Given the description of an element on the screen output the (x, y) to click on. 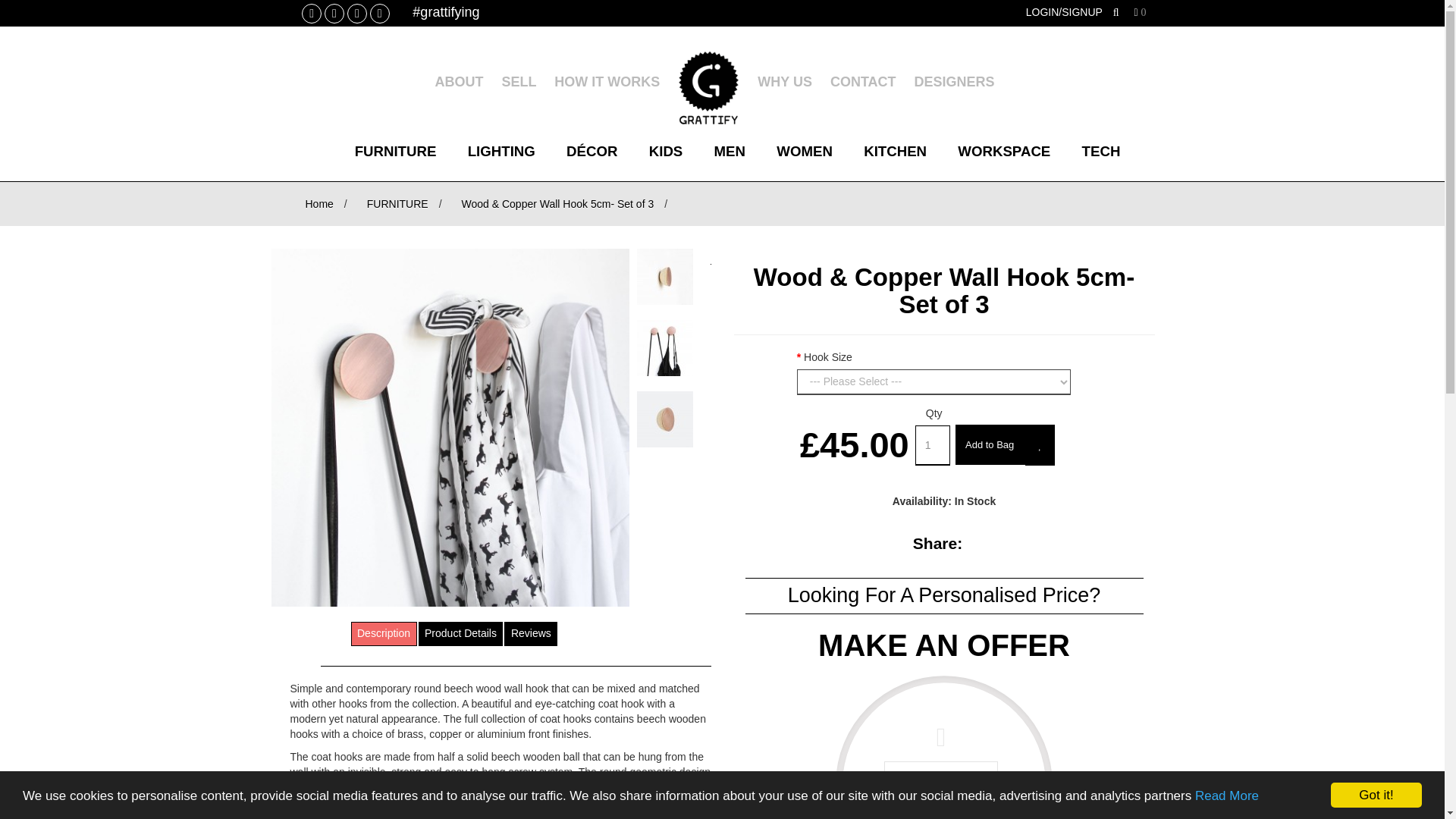
ABOUT (458, 81)
KITCHEN (894, 150)
My Account (1064, 11)
WHY US (784, 81)
MEN (730, 150)
LIGHTING (501, 150)
CONTACT (944, 723)
FURNITURE (862, 81)
TECH (394, 150)
DESIGNERS (1100, 150)
WORKSPACE (954, 81)
SELL (1003, 150)
KIDS (517, 81)
HOW IT WORKS (665, 150)
